Given the description of an element on the screen output the (x, y) to click on. 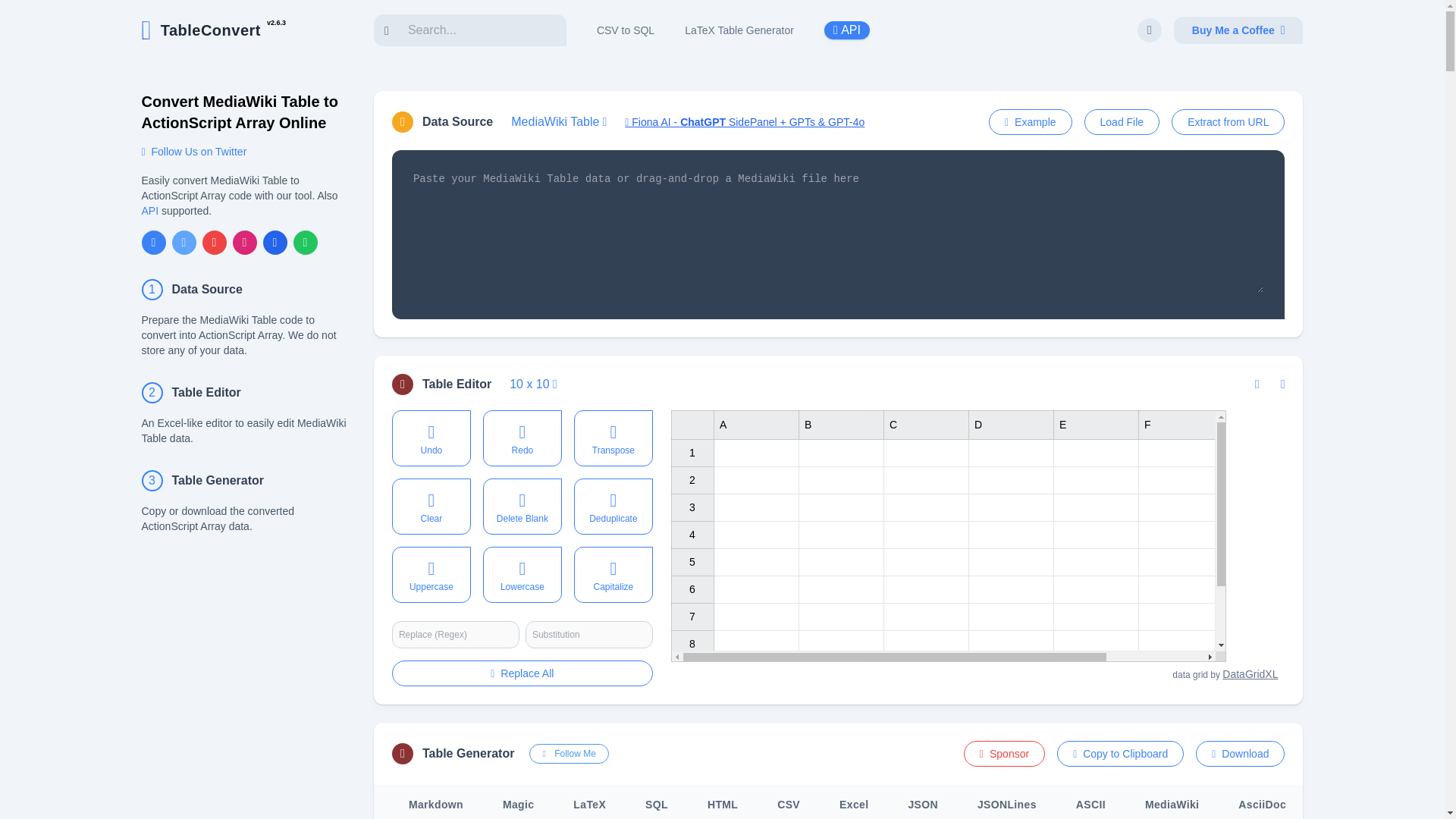
What's News (275, 30)
TableConvert (200, 30)
v2.6.3 (275, 30)
